Given the description of an element on the screen output the (x, y) to click on. 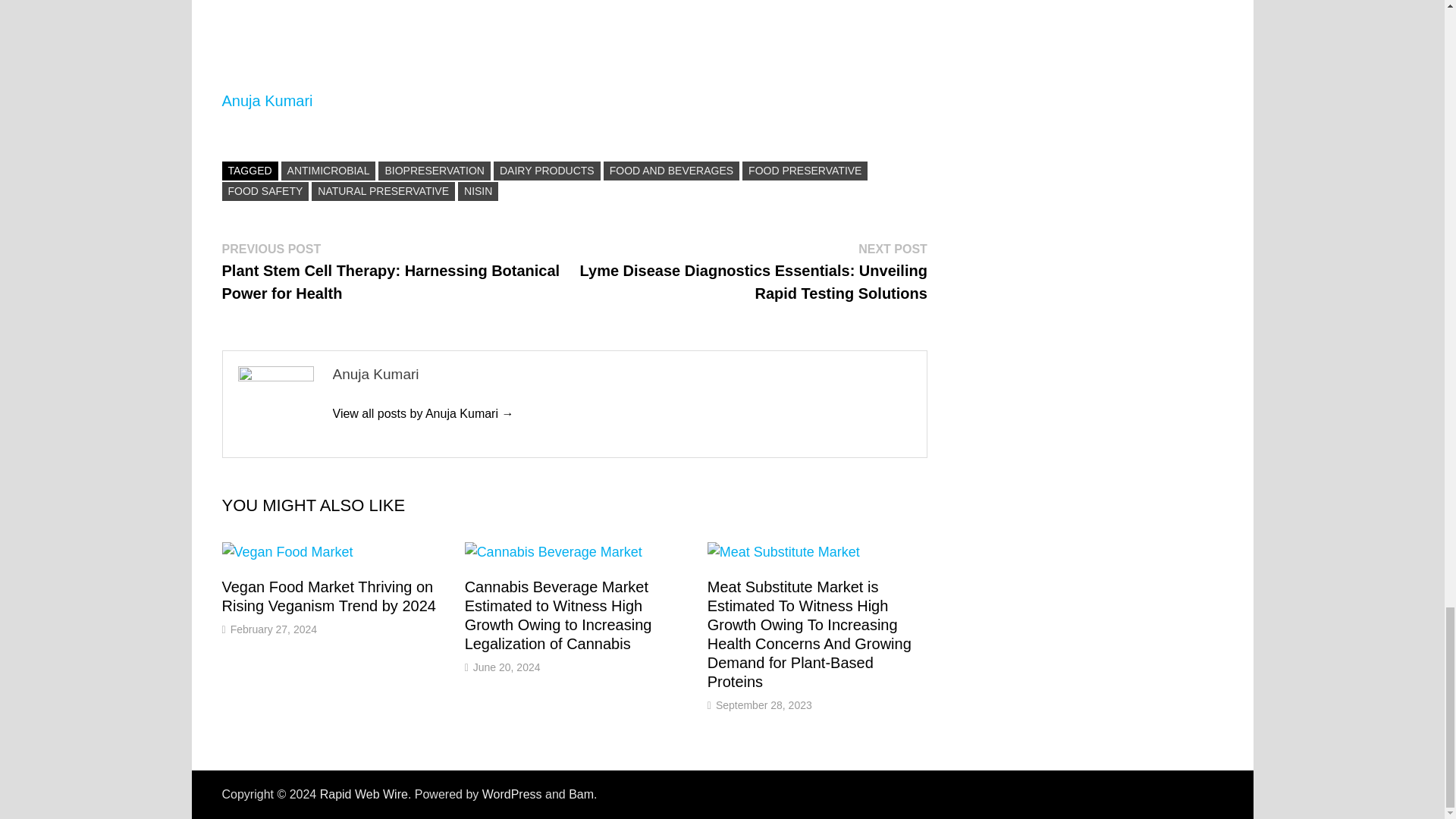
Rapid Web Wire (363, 793)
Anuja Kumari (422, 413)
Vegan Food Market Thriving on Rising Veganism Trend by 2024 (328, 596)
